Given the description of an element on the screen output the (x, y) to click on. 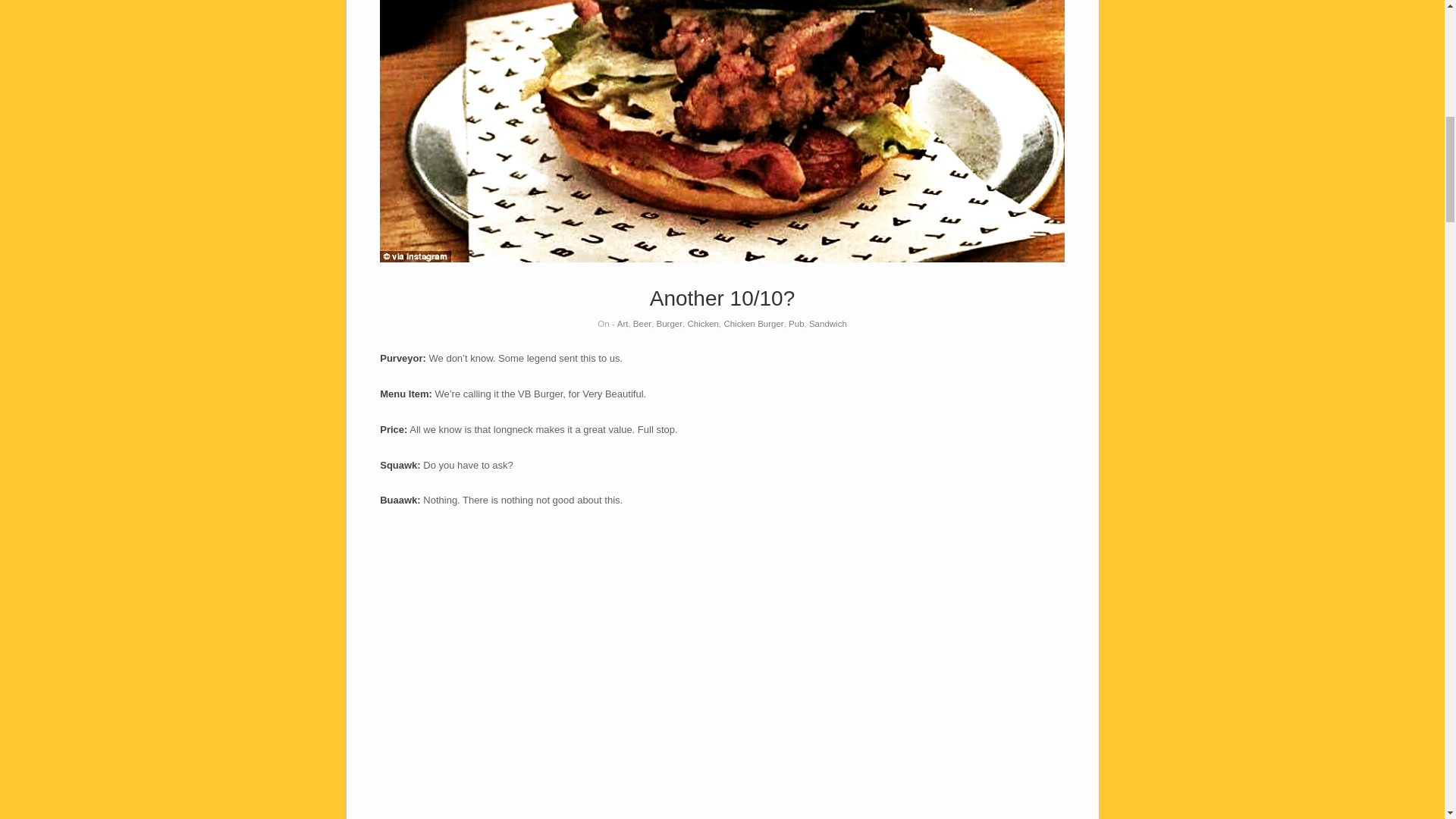
Art (622, 323)
Beer (641, 323)
Chicken (703, 323)
Burger (669, 323)
Pub (796, 323)
Sandwich (828, 323)
Chicken Burger (753, 323)
